Given the description of an element on the screen output the (x, y) to click on. 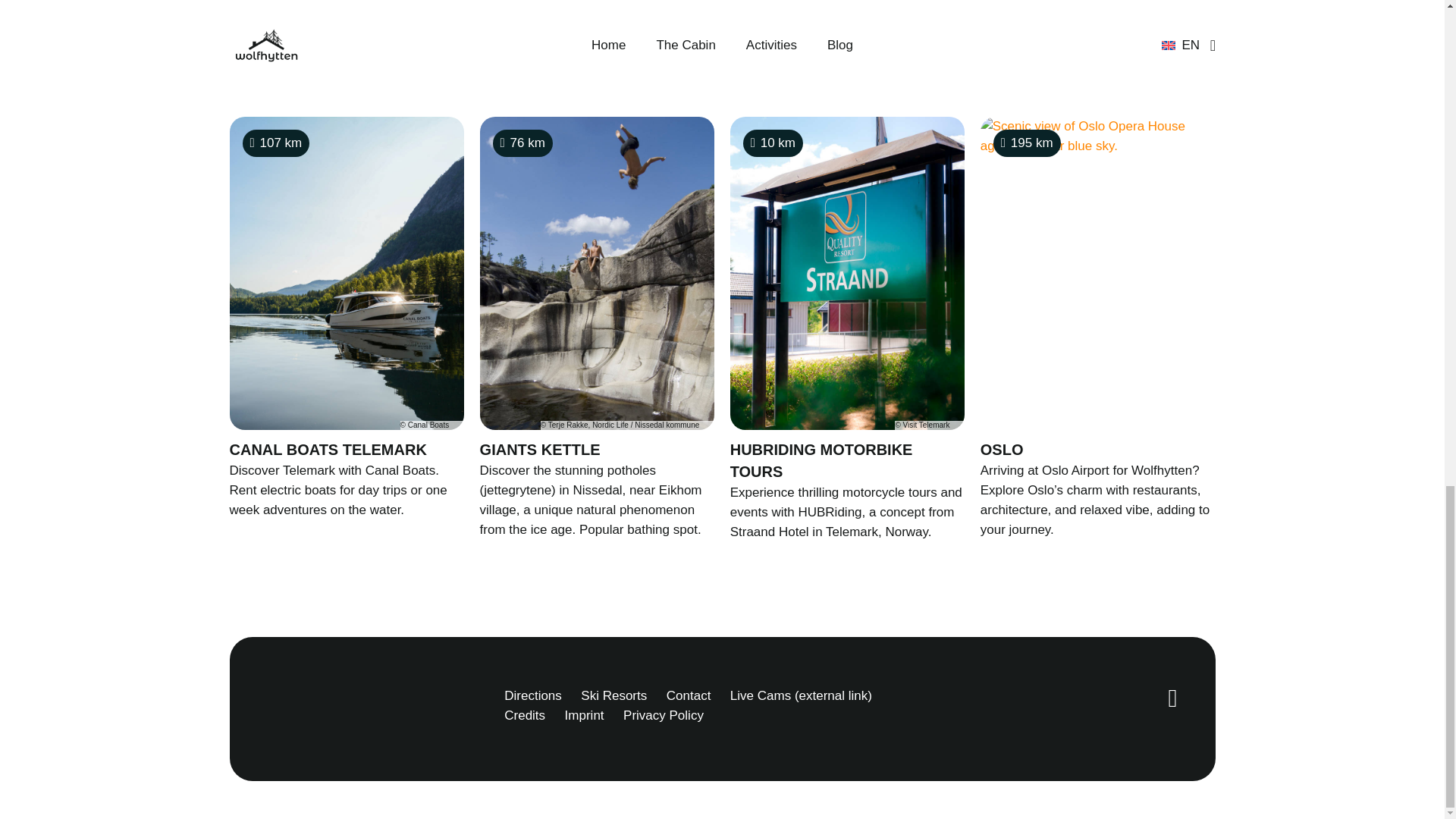
HUBRIDING MOTORBIKE TOURS (821, 460)
Directions (532, 695)
Credits (523, 715)
CANAL BOATS TELEMARK (327, 449)
GIANTS KETTLE (539, 449)
Imprint (584, 715)
Privacy Policy (663, 715)
OSLO (1001, 449)
Contact (688, 695)
Ski Resorts (613, 695)
